Given the description of an element on the screen output the (x, y) to click on. 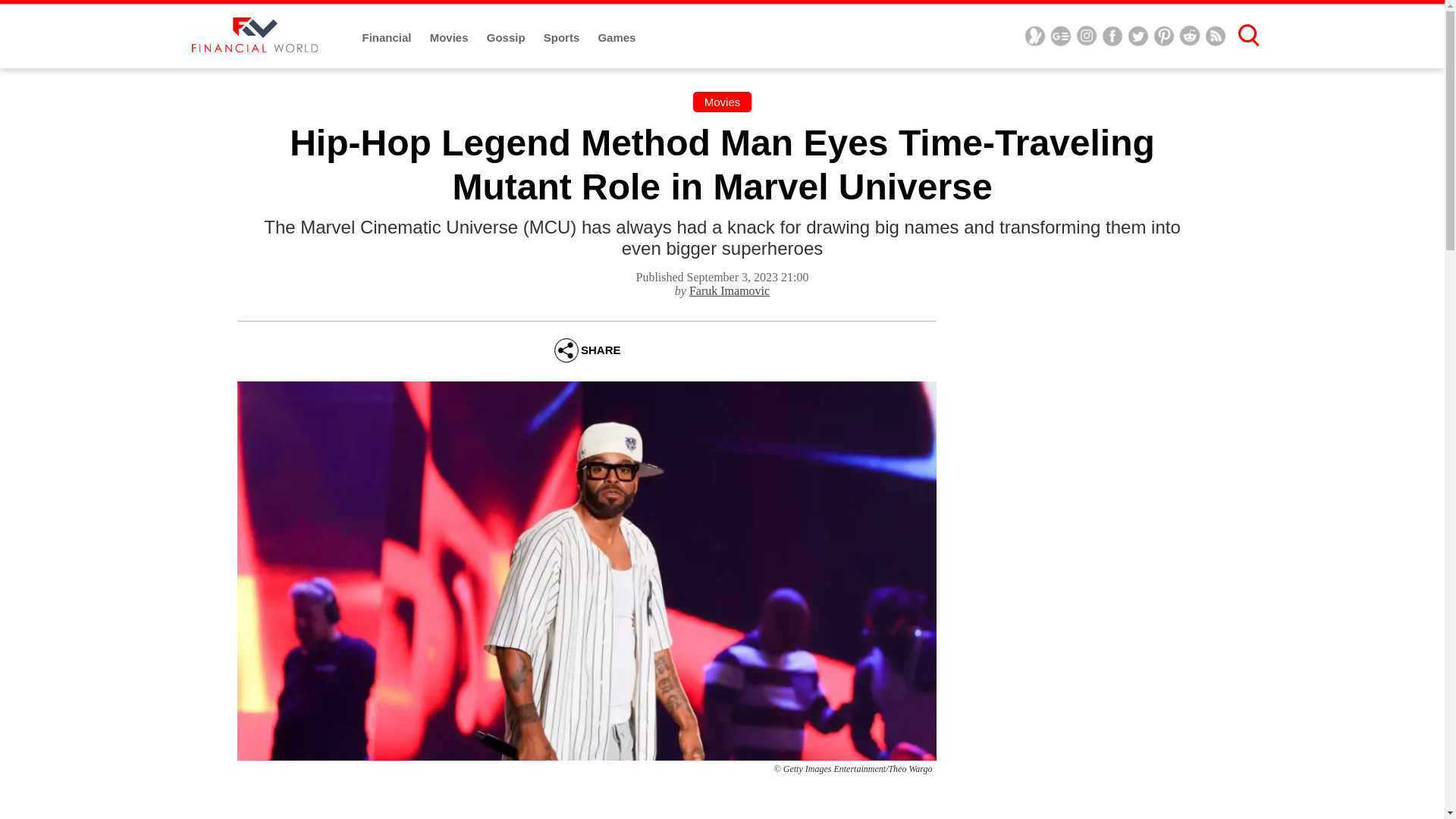
Gossip (507, 37)
Movies (722, 101)
Sports (563, 37)
Games (615, 37)
Financial (388, 37)
Movies (450, 37)
Faruk Imamovic (729, 290)
